Given the description of an element on the screen output the (x, y) to click on. 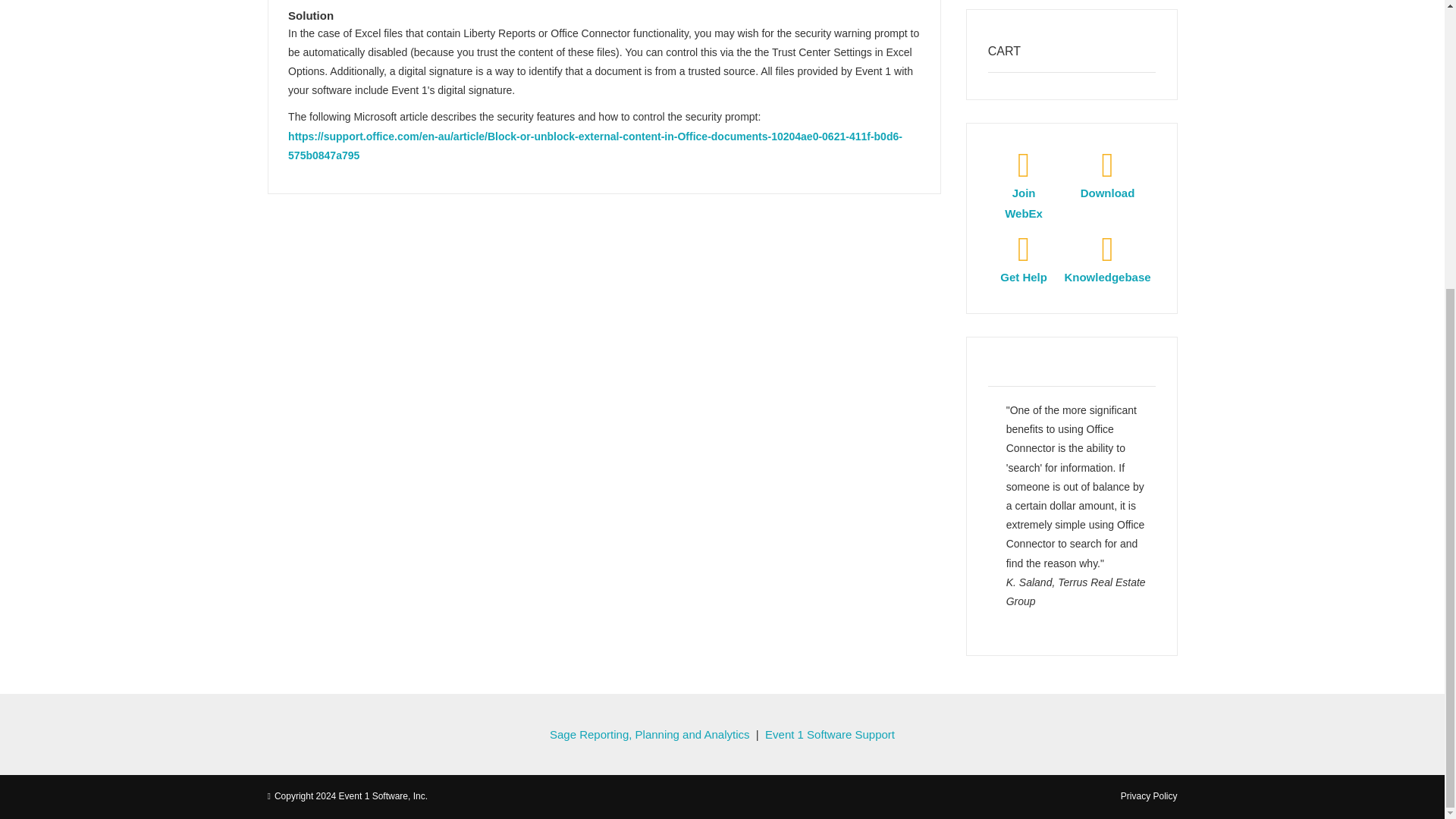
Get Help (1023, 266)
Copyright 2024 Event 1 Software, Inc. (351, 796)
Knowledgebase (1107, 266)
Download (1107, 182)
Sage Reporting, Planning and Analytics (649, 734)
Privacy Policy (1149, 796)
Privacy (1149, 796)
Event 1 Software Support (830, 734)
